Given the description of an element on the screen output the (x, y) to click on. 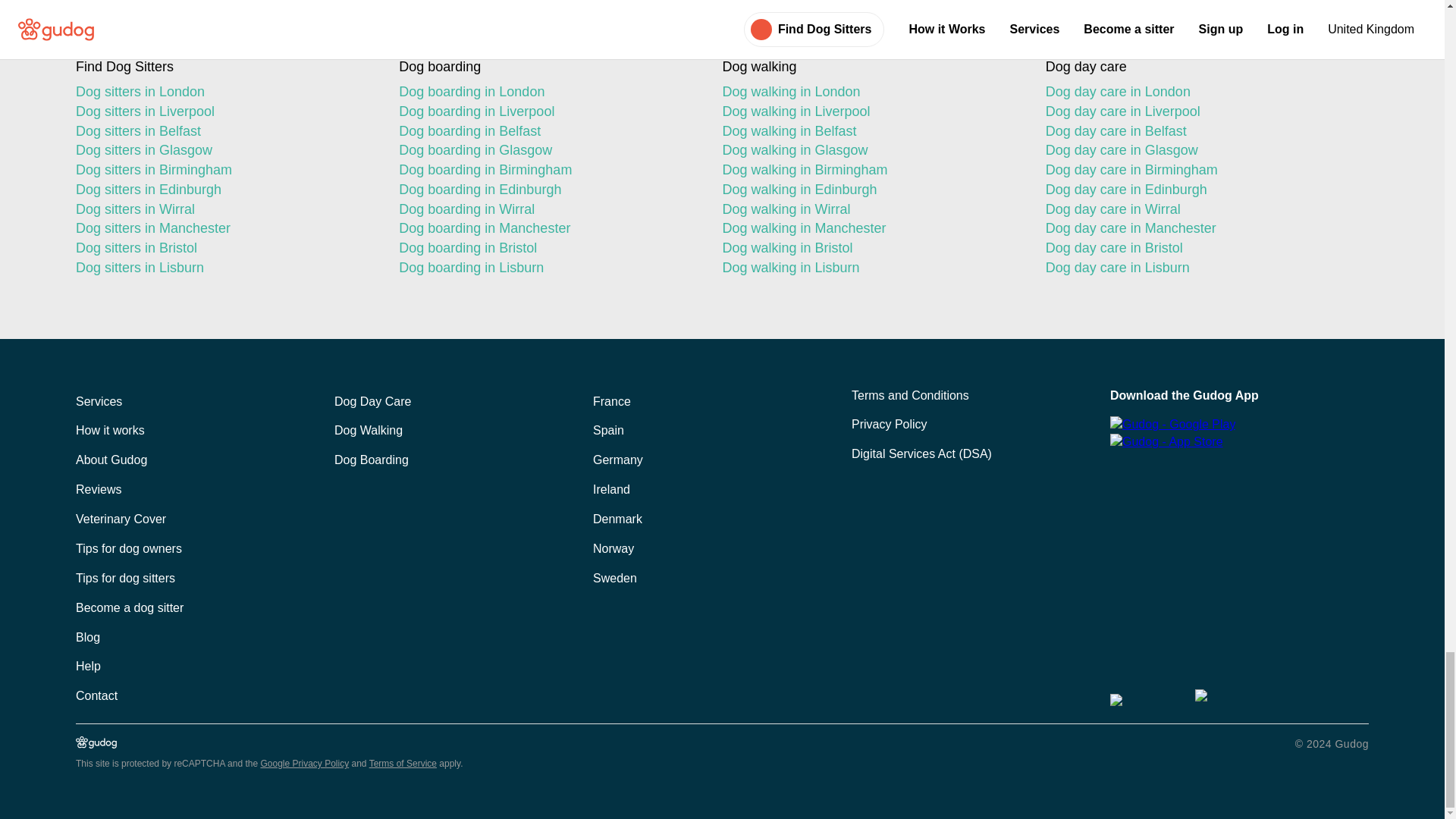
Dog sitters in Liverpool (224, 112)
Dog boarding in Belfast (547, 131)
Dog sitters in Manchester (224, 229)
Dog boarding in Liverpool (547, 112)
Dog sitters in Glasgow (224, 150)
Dog sitters in London (224, 92)
Dog sitters in Birmingham (224, 170)
Dog boarding in Glasgow (547, 150)
Dog sitters in Belfast (224, 131)
Dog sitters in Bristol (224, 248)
Dog sitters in Lisburn (224, 268)
Dog boarding in Birmingham (547, 170)
Dog sitters in Liverpool (224, 112)
Dog boarding in Birmingham (547, 170)
Dog boarding in Glasgow (547, 150)
